Given the description of an element on the screen output the (x, y) to click on. 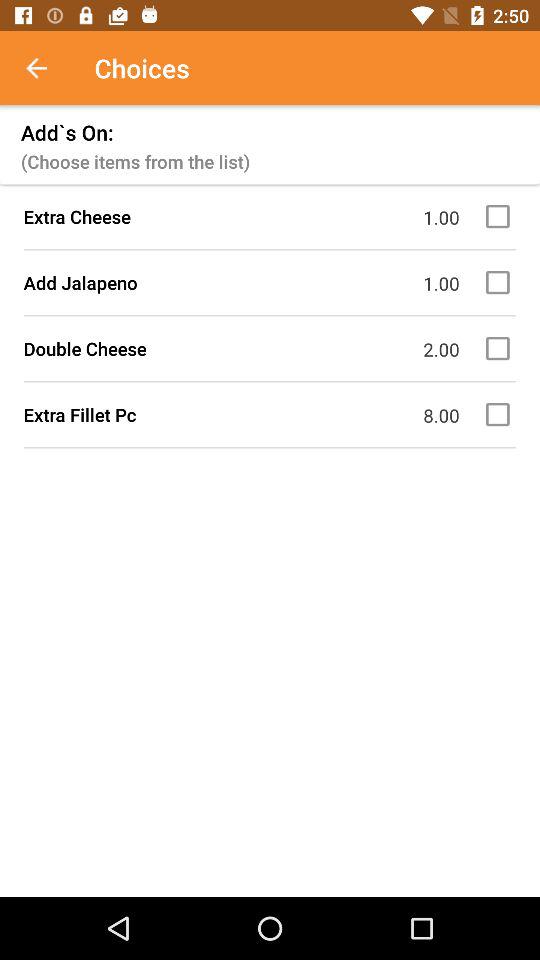
click the item above the add`s on: icon (47, 68)
